Given the description of an element on the screen output the (x, y) to click on. 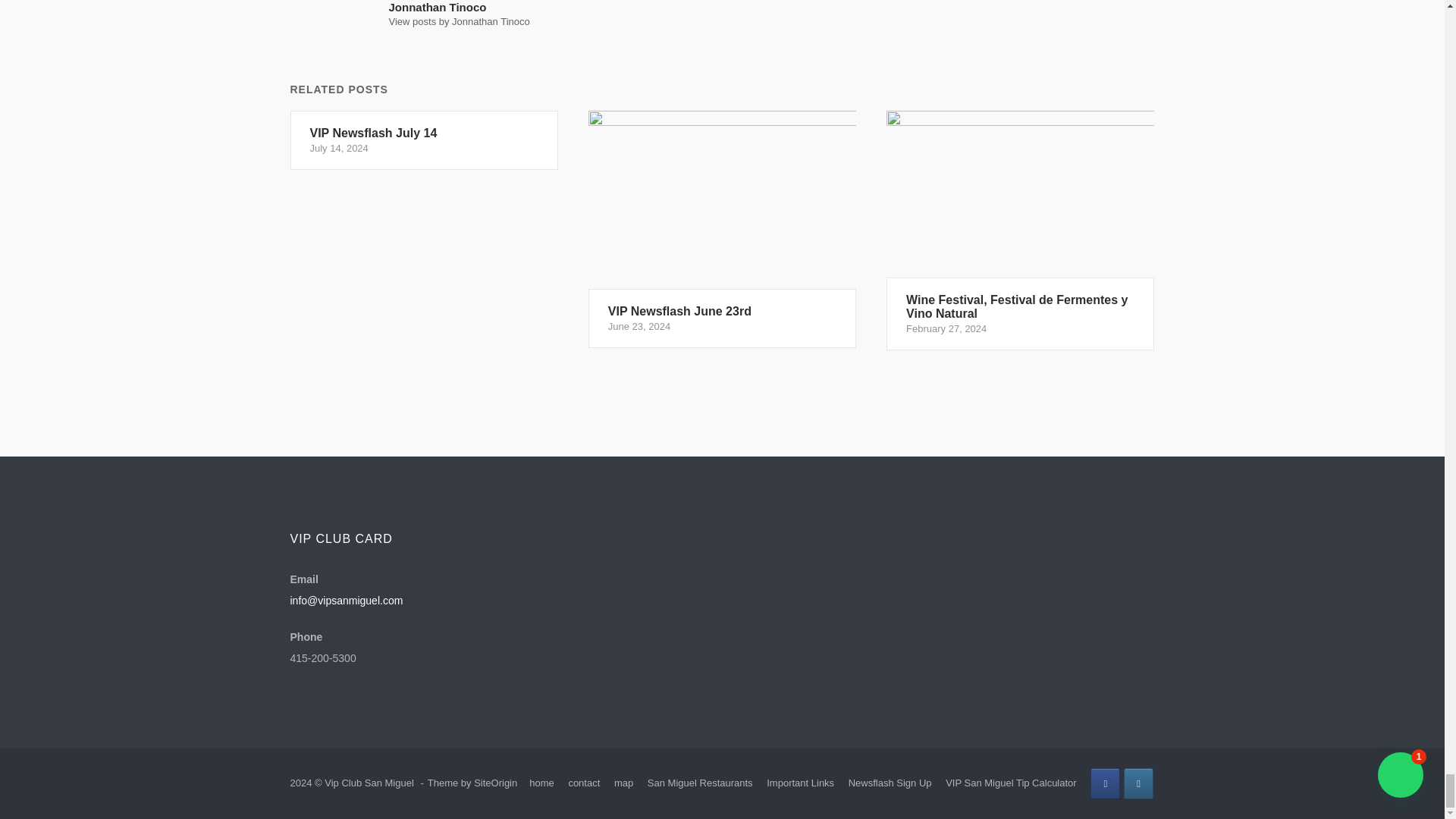
home (541, 782)
Vip Club San Miguel on Instagram (1138, 783)
VIP Newsflash June 23rd (423, 139)
View posts by Jonnathan Tinoco (722, 229)
VIP Newsflash July 14 (722, 229)
Vip Club San Miguel on Facebook (458, 21)
contact (423, 139)
SiteOrigin (1104, 783)
Wine Festival, Festival de Fermentes y Vino Natural (583, 782)
map (495, 782)
